Given the description of an element on the screen output the (x, y) to click on. 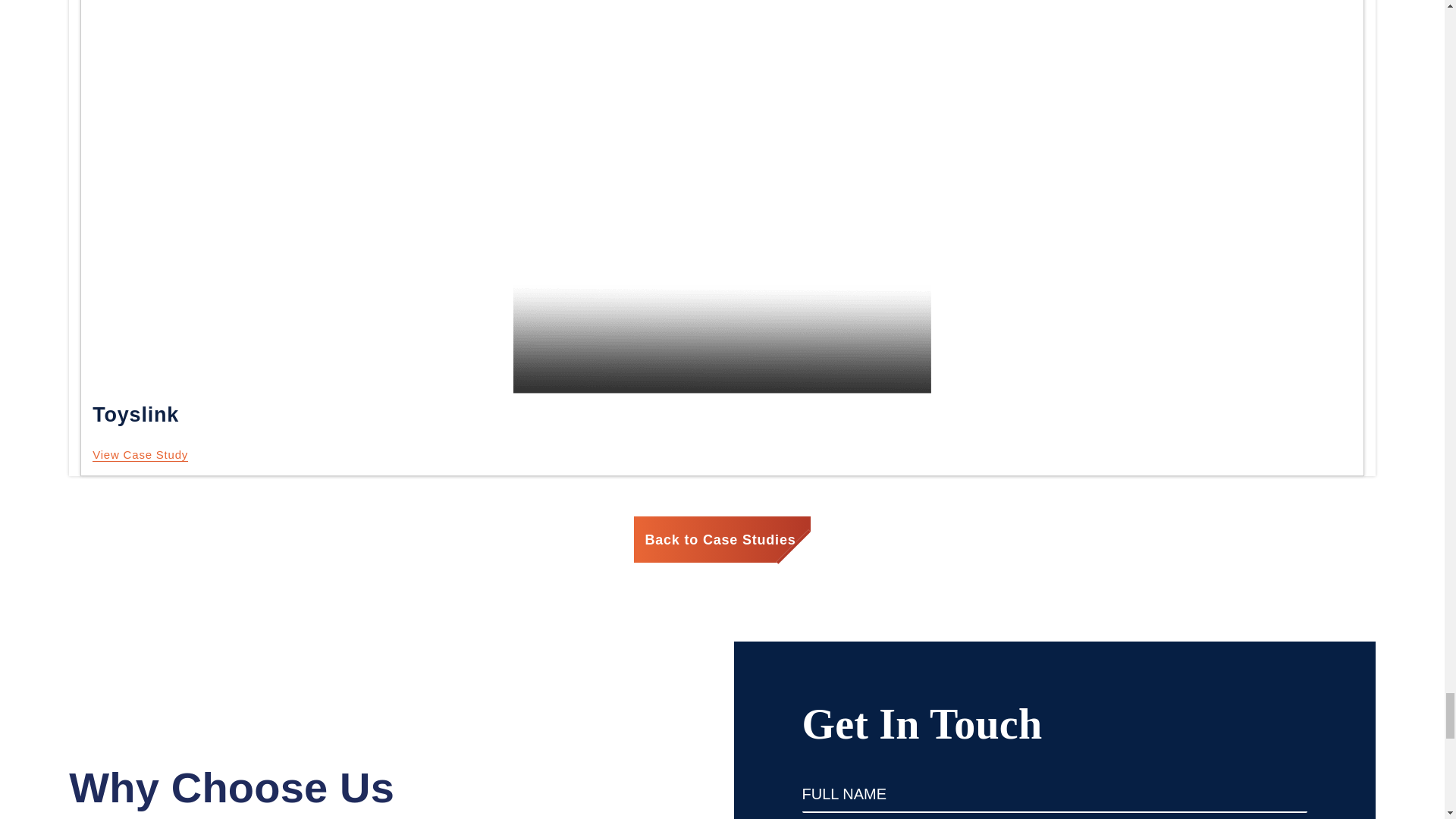
Toyslink (140, 454)
